Given the description of an element on the screen output the (x, y) to click on. 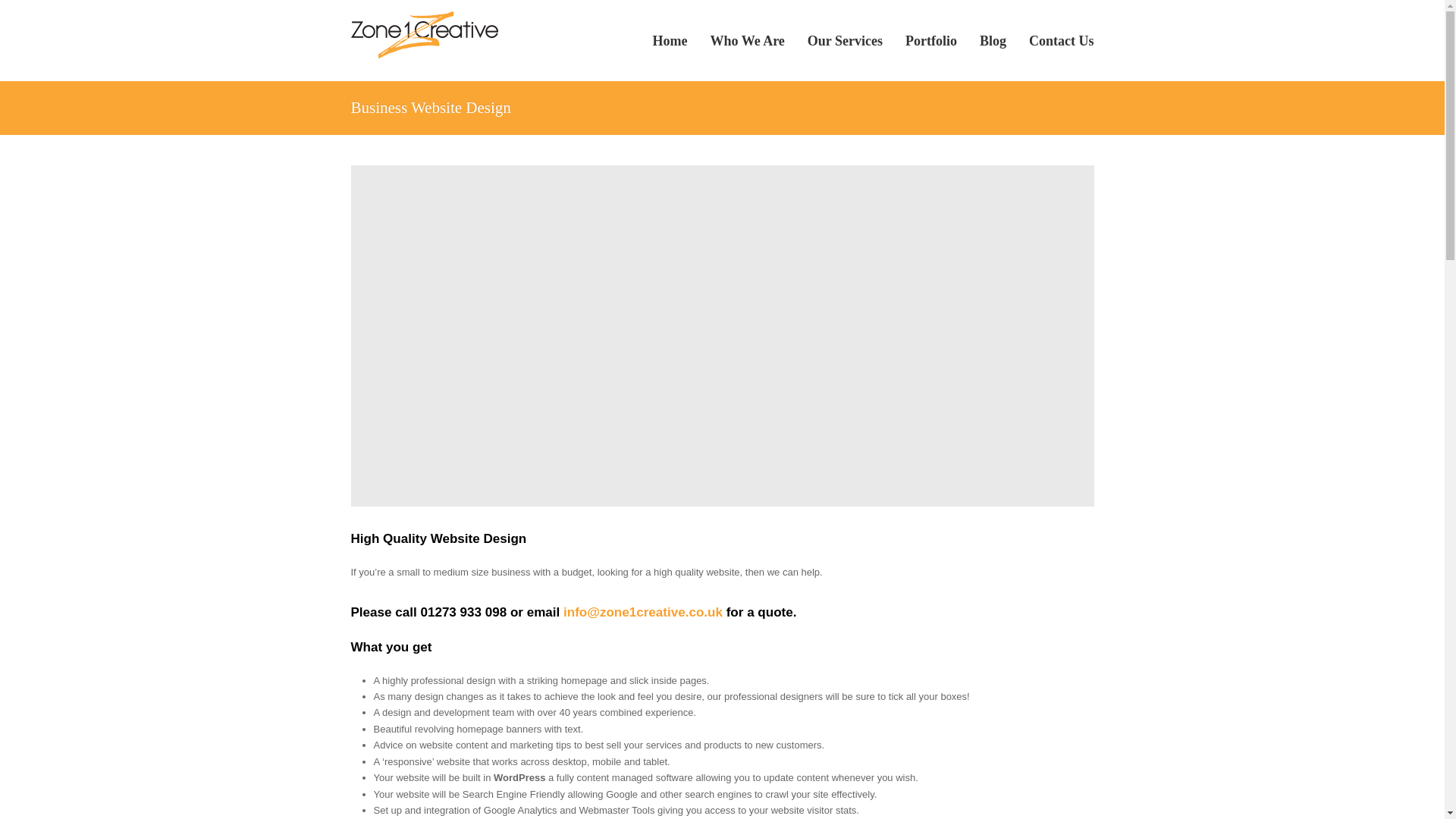
Portfolio (930, 39)
Blog (992, 39)
Contact Us (1061, 39)
Home (670, 39)
Our Services (844, 39)
Who We Are (747, 39)
